Given the description of an element on the screen output the (x, y) to click on. 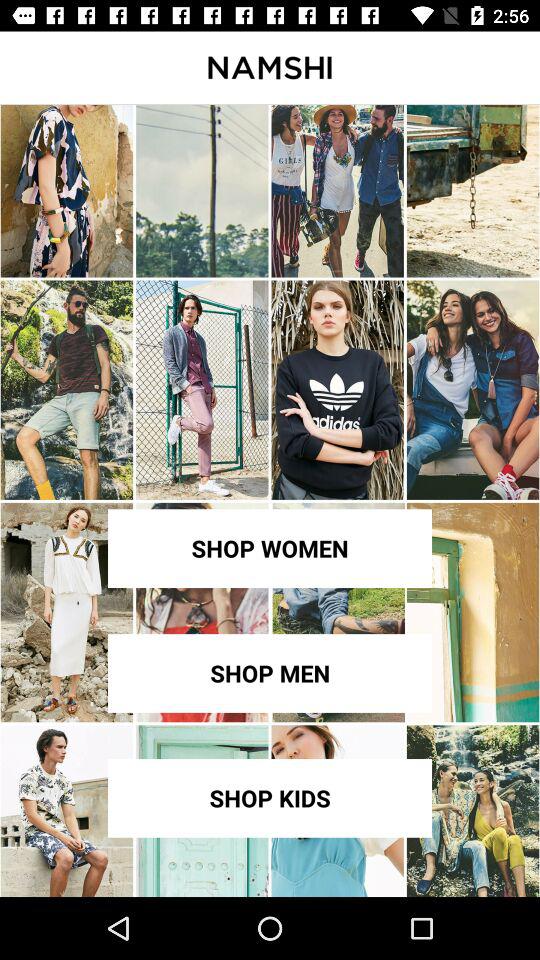
tap item above shop men icon (270, 548)
